Given the description of an element on the screen output the (x, y) to click on. 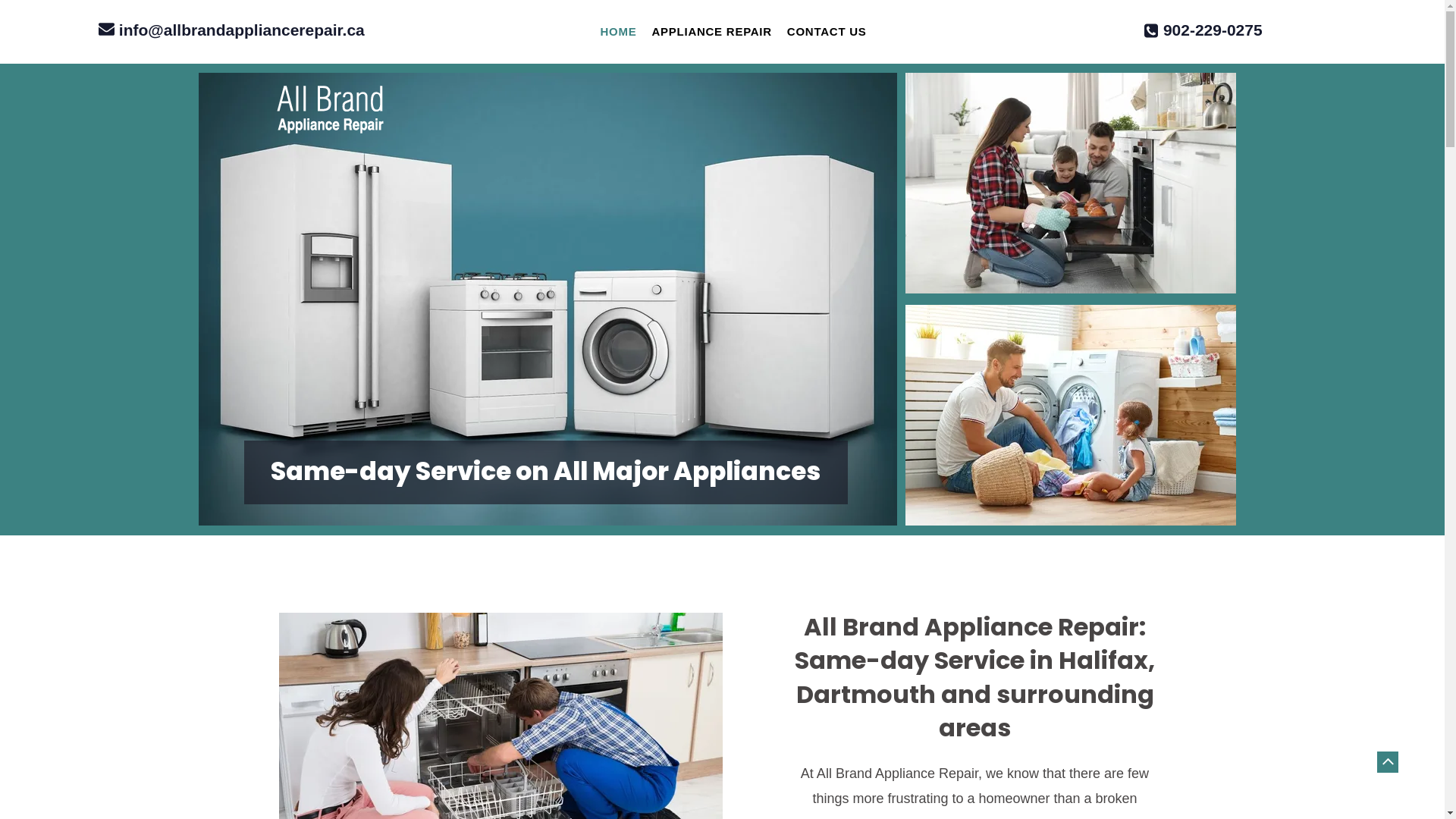
CONTACT US Element type: text (826, 31)
902-229-0275 Element type: text (1212, 31)
info@allbrandappliancerepair.ca Element type: text (241, 31)
APPLIANCE REPAIR Element type: text (711, 31)
HOME Element type: text (617, 31)
